Given the description of an element on the screen output the (x, y) to click on. 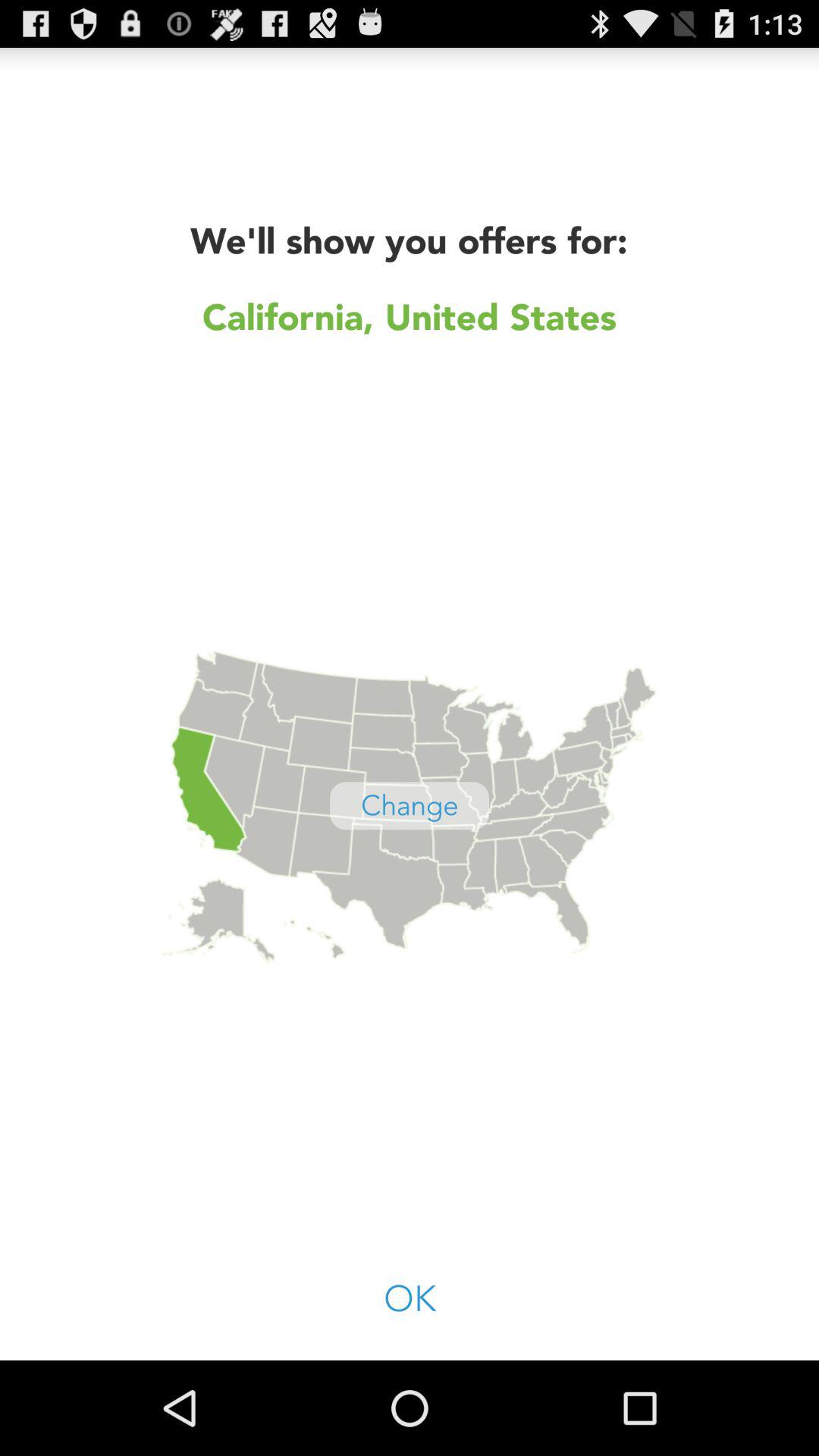
tap the button above ok icon (409, 805)
